Given the description of an element on the screen output the (x, y) to click on. 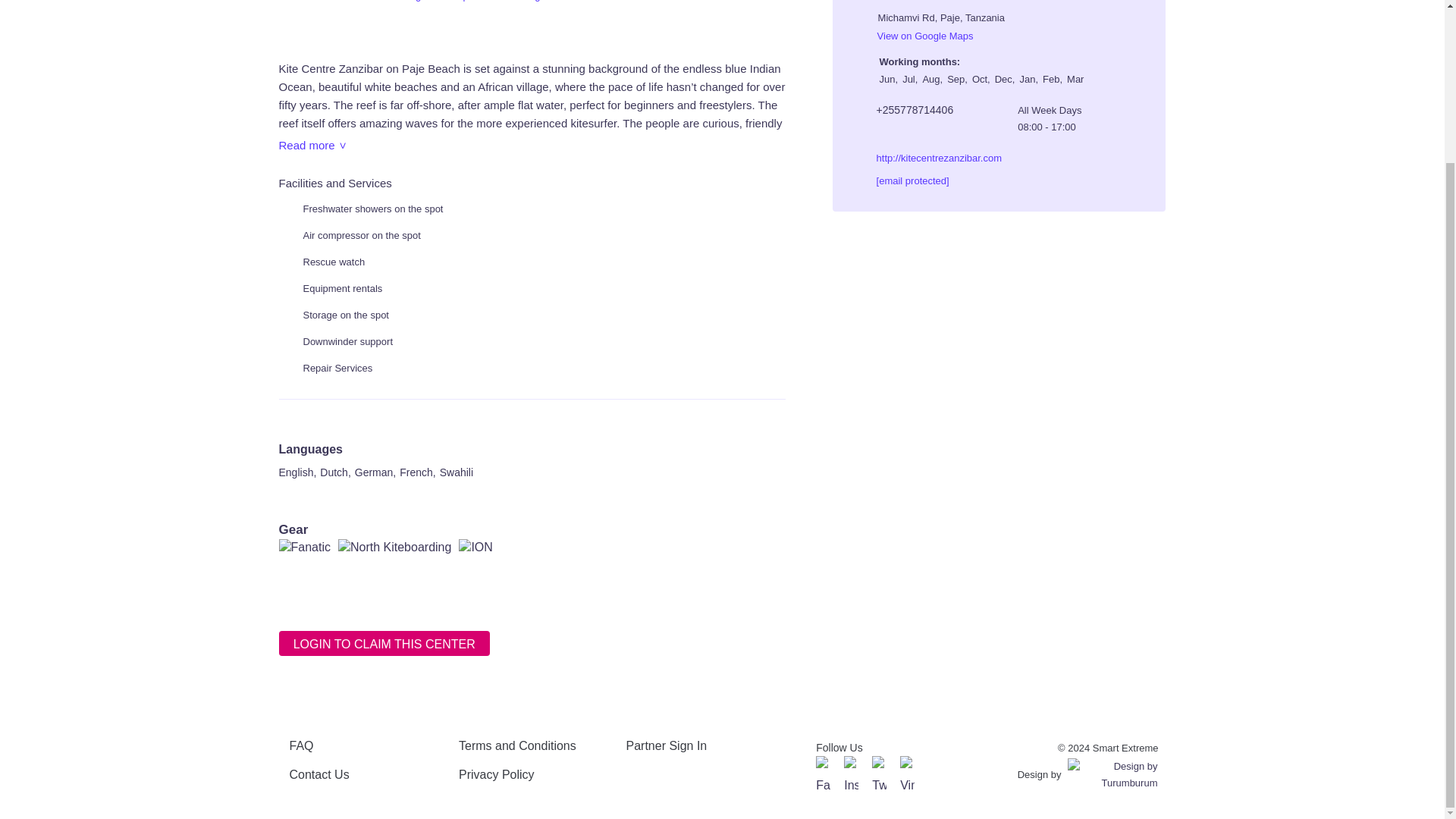
FAQ (301, 745)
FAQ (301, 745)
email (903, 180)
Privacy Policy (496, 774)
website (929, 157)
Contact Us (319, 774)
View on Google Maps (915, 35)
Partner Sign In (666, 745)
LOGIN TO CLAIM THIS CENTER (384, 643)
Privacy Policy (496, 774)
